Given the description of an element on the screen output the (x, y) to click on. 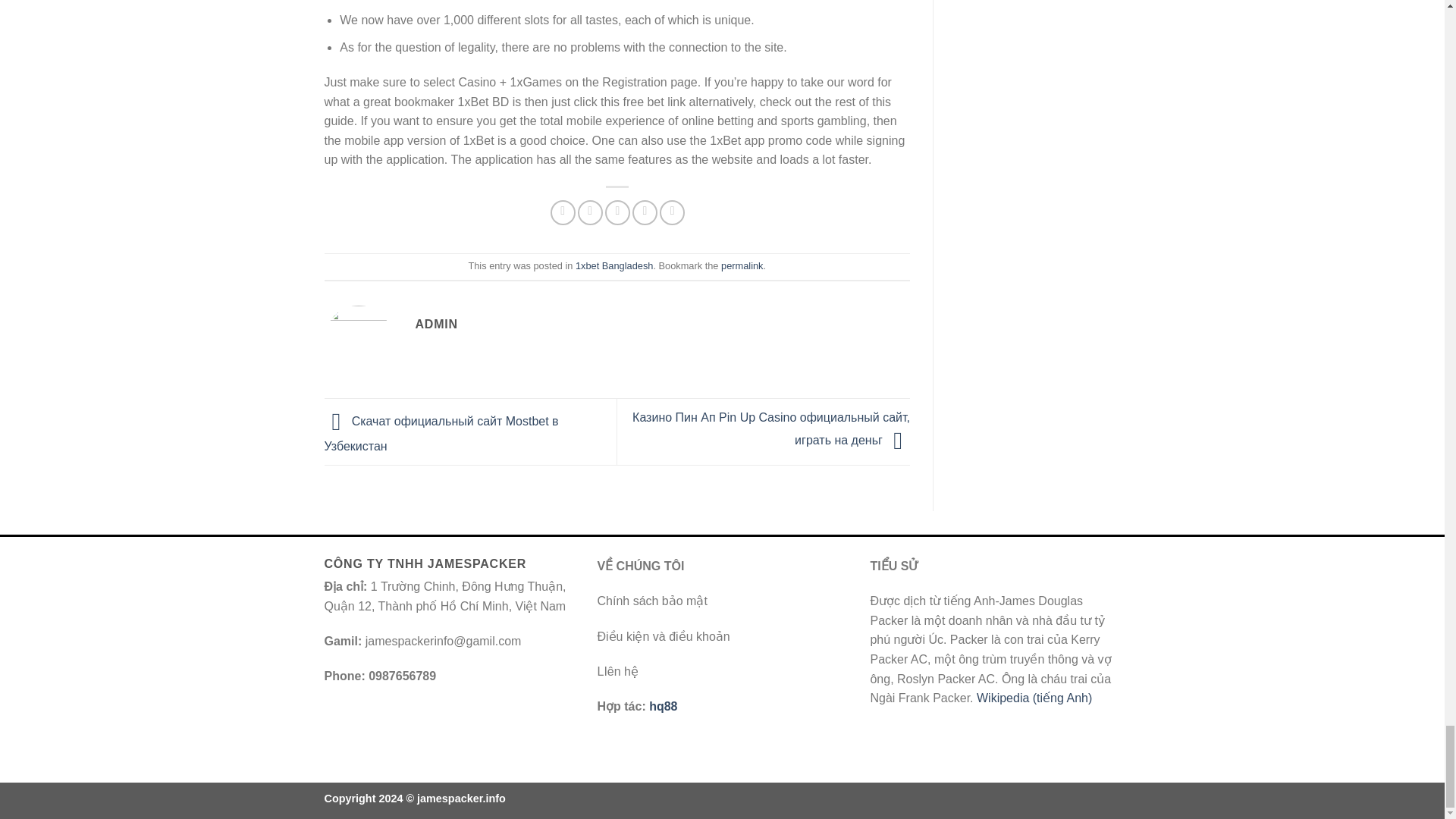
Email to a Friend (617, 212)
Pin on Pinterest (644, 212)
Share on Twitter (590, 212)
Share on LinkedIn (671, 212)
Share on Facebook (562, 212)
